Given the description of an element on the screen output the (x, y) to click on. 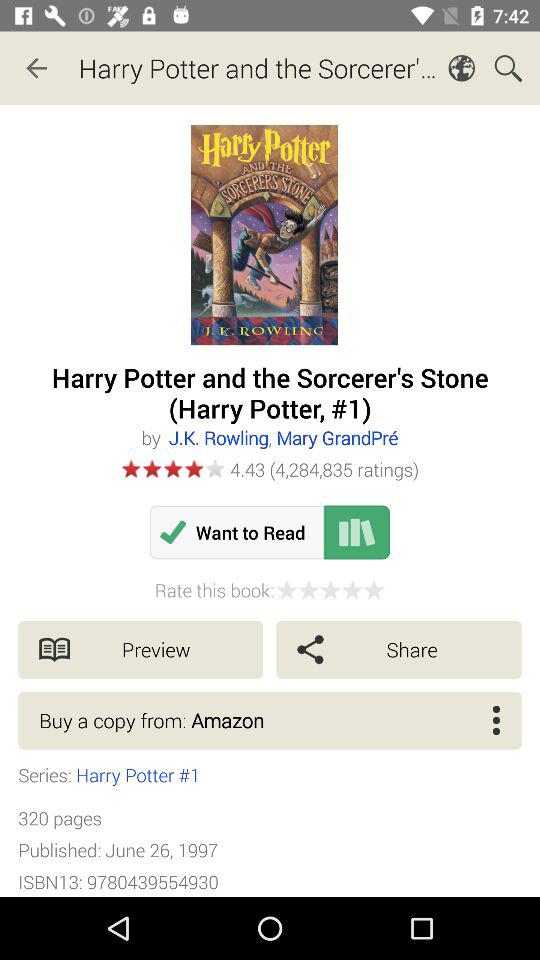
open item next to the harry potter and app (36, 68)
